Given the description of an element on the screen output the (x, y) to click on. 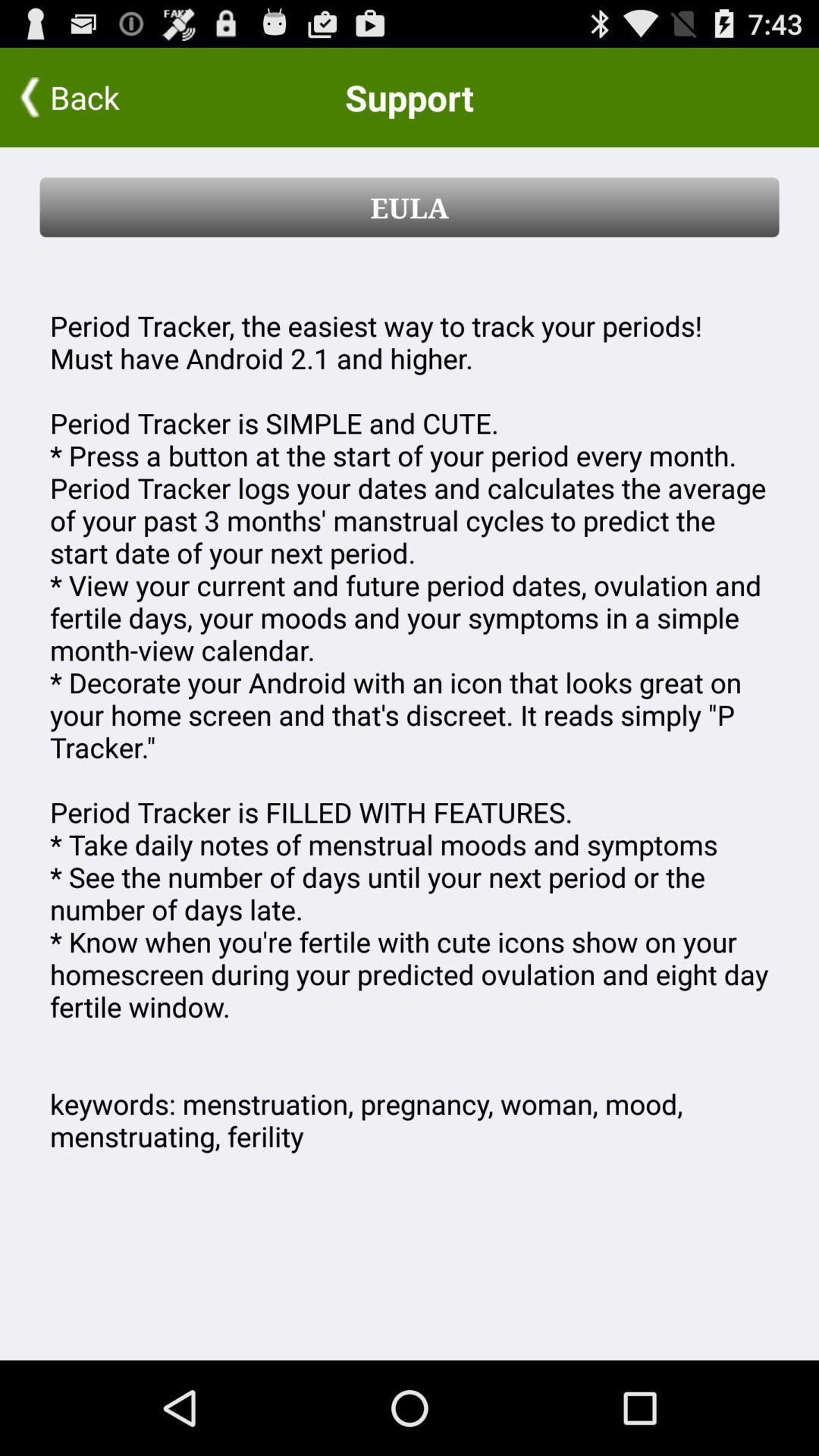
open the icon at the top left corner (99, 97)
